Given the description of an element on the screen output the (x, y) to click on. 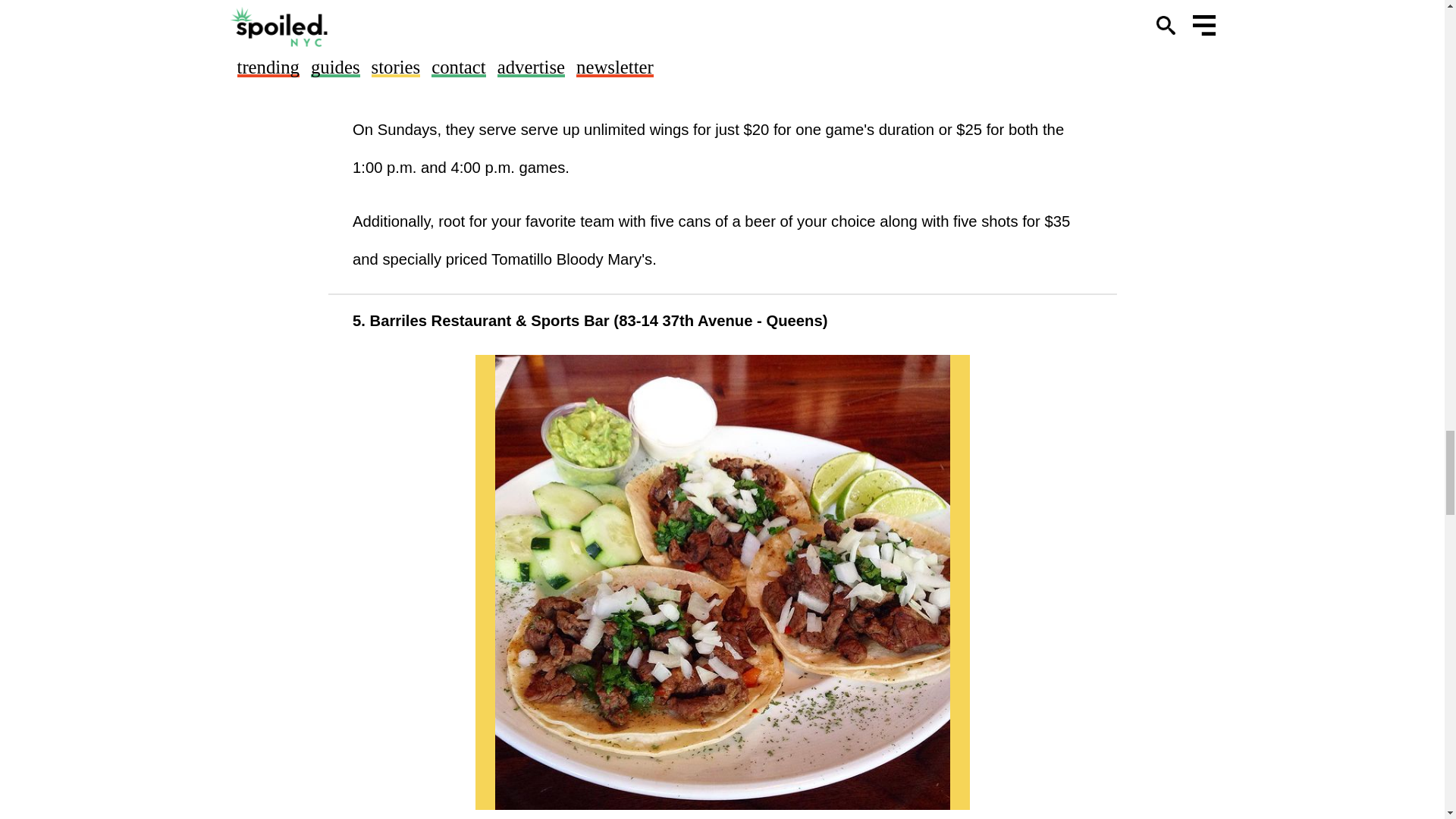
Thrillist (376, 23)
